Given the description of an element on the screen output the (x, y) to click on. 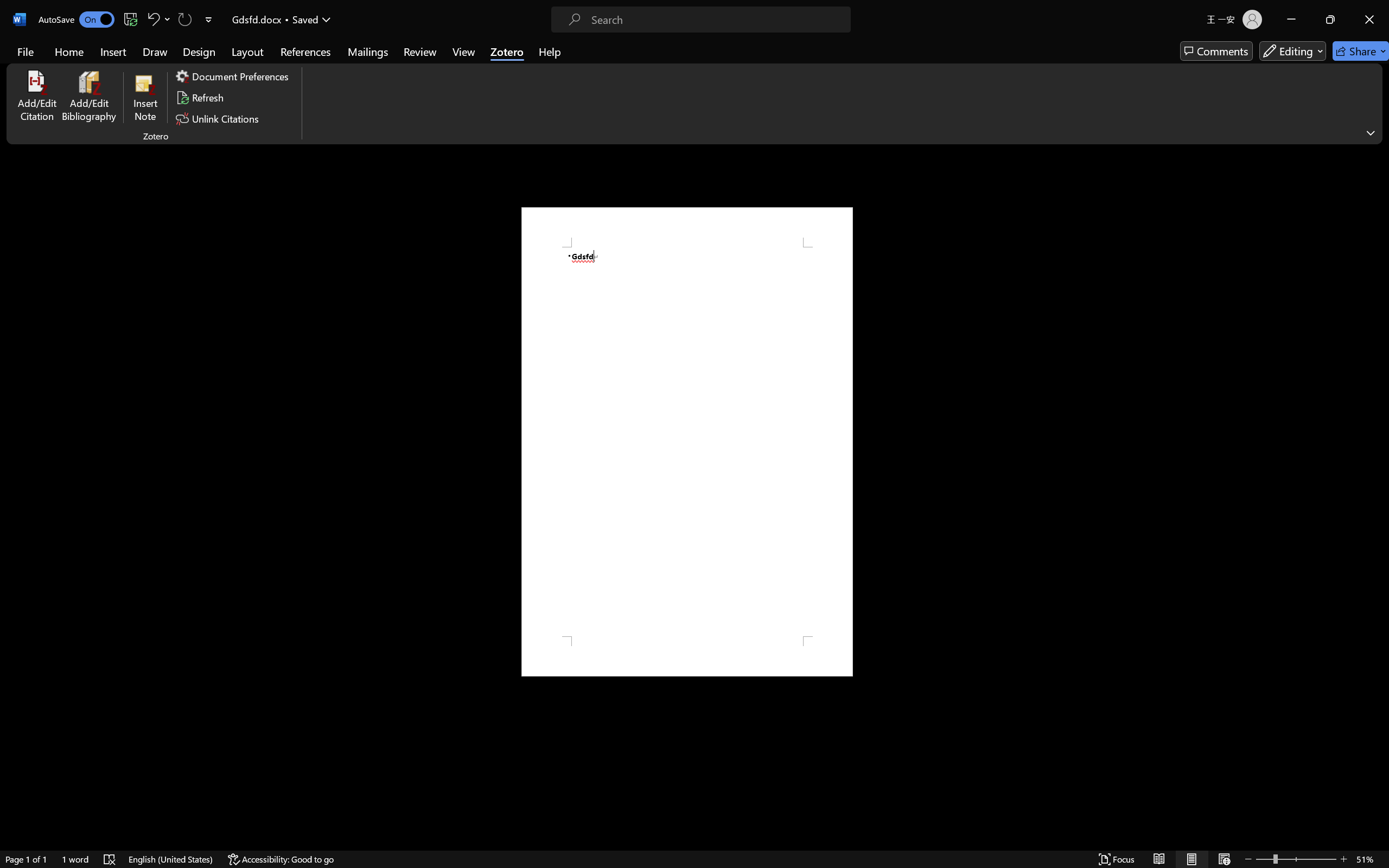
Page 1 content (686, 441)
